Given the description of an element on the screen output the (x, y) to click on. 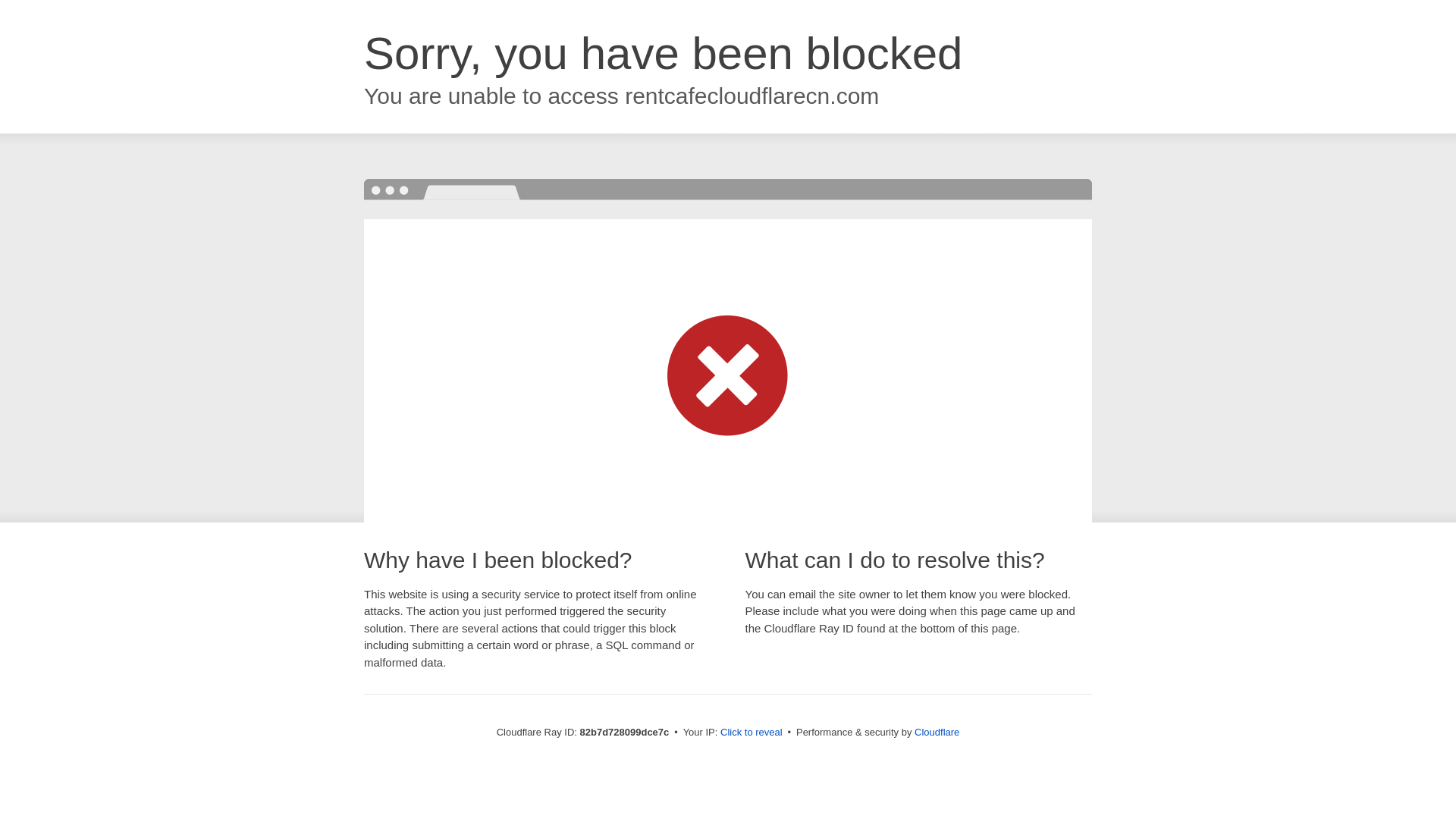
Cloudflare Element type: text (936, 731)
Click to reveal Element type: text (751, 732)
